Given the description of an element on the screen output the (x, y) to click on. 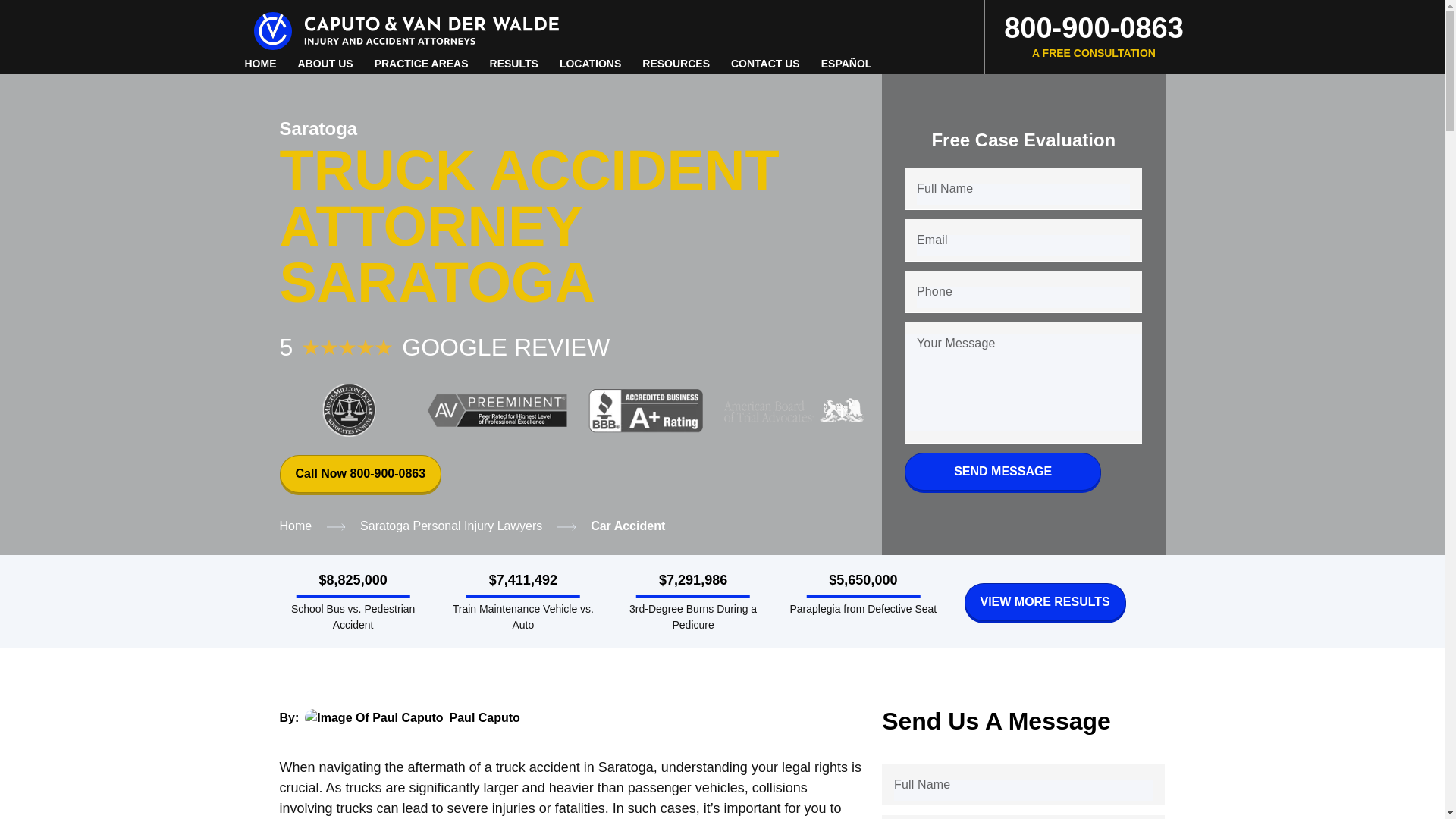
Multi-Million Dollar Advocates Forum (348, 410)
PRACTICE AREAS (421, 63)
Visit Home (406, 28)
LOCATIONS (590, 63)
Call Us! (1092, 37)
ABOUT US (324, 63)
RESULTS (513, 63)
AV Preeminent (497, 409)
American Board Of Trial Advocates (793, 410)
BBB Accredited Business (646, 410)
